Given the description of an element on the screen output the (x, y) to click on. 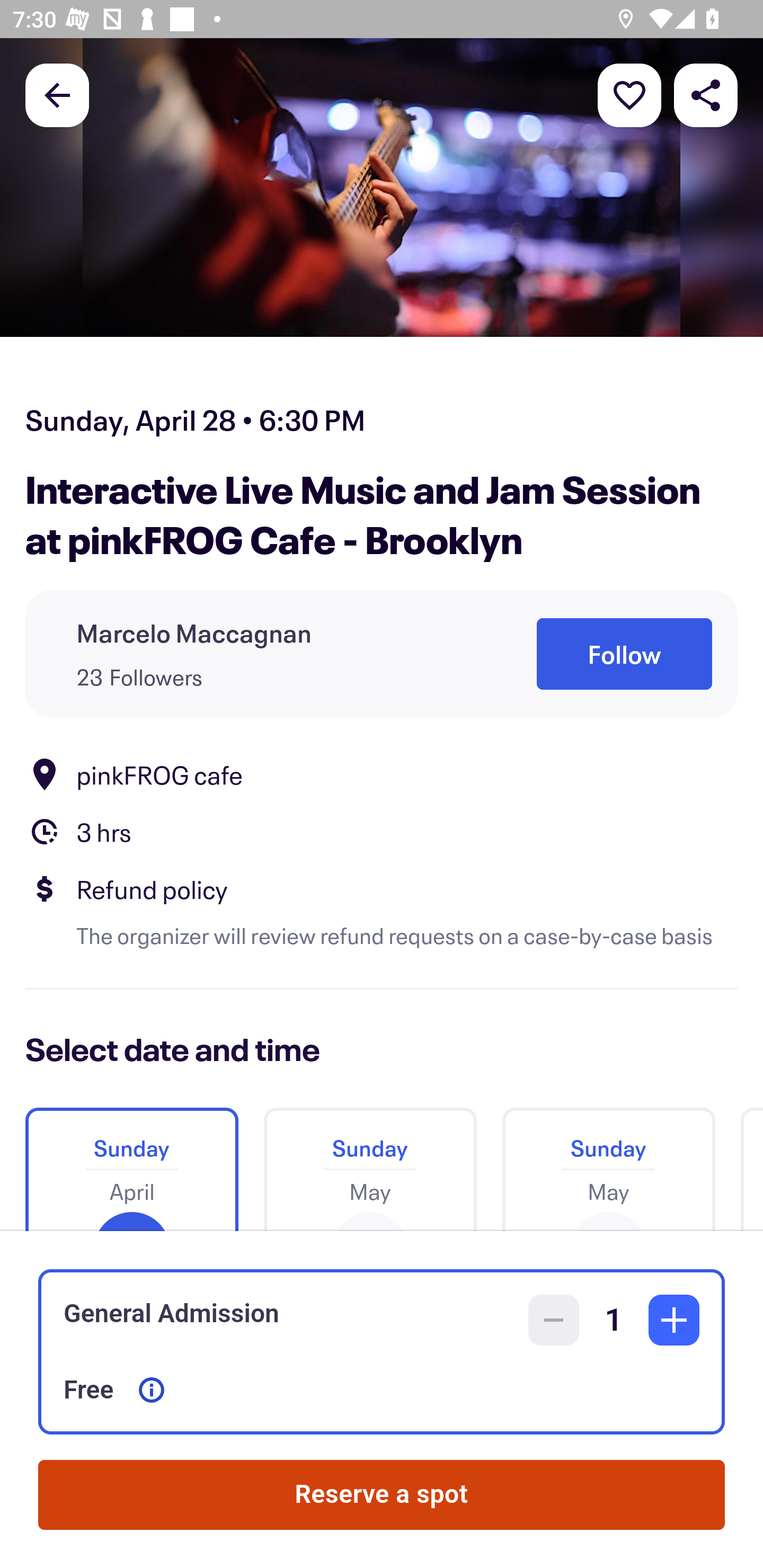
Back (57, 94)
More (629, 94)
Share (705, 94)
Marcelo Maccagnan (194, 632)
Follow (623, 654)
Location pinkFROG cafe (381, 774)
Sunday April 28 (131, 1162)
Sunday May 5 (370, 1162)
Sunday May 12 (608, 1162)
